Given the description of an element on the screen output the (x, y) to click on. 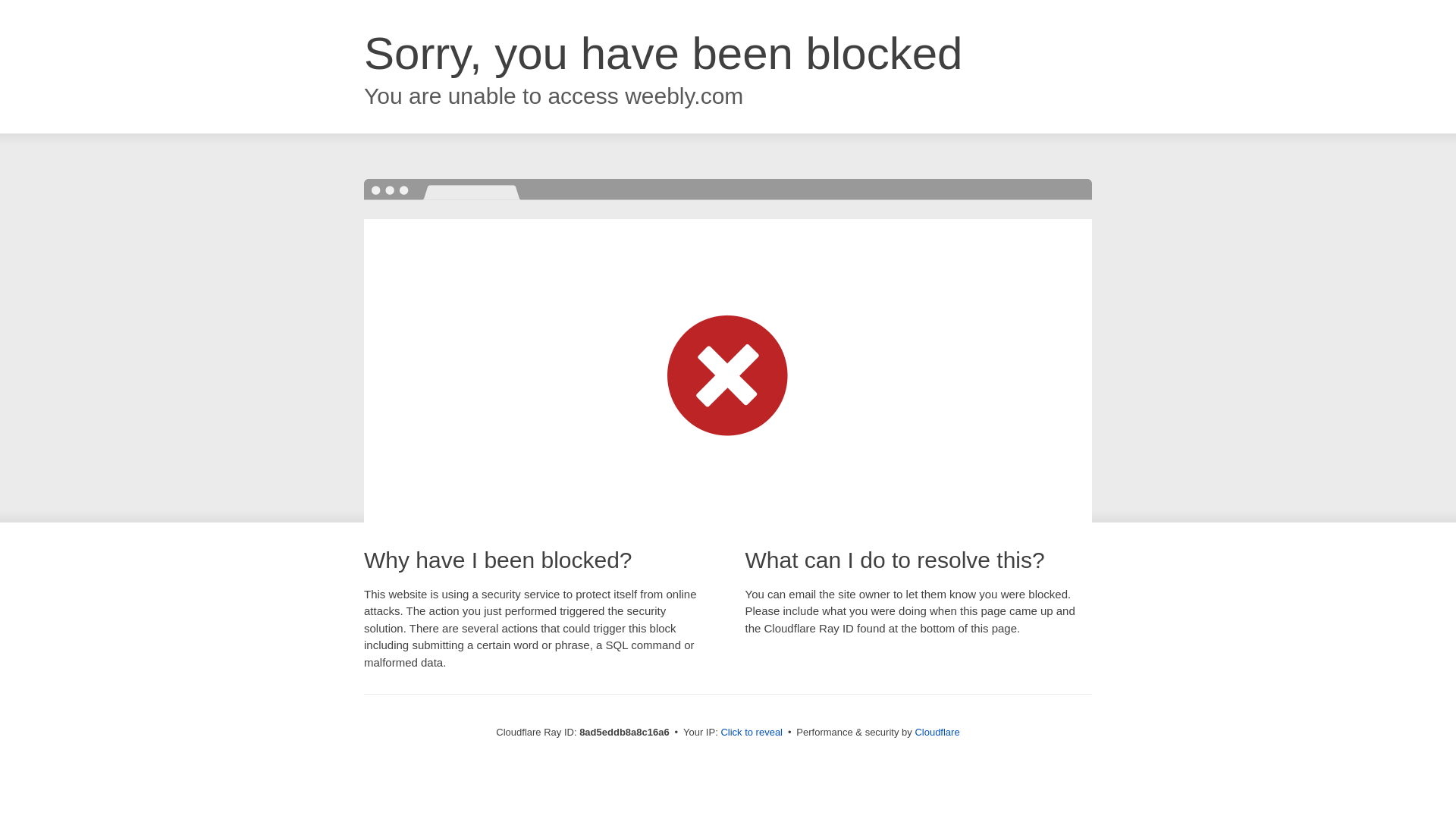
Click to reveal (751, 732)
Cloudflare (936, 731)
